Given the description of an element on the screen output the (x, y) to click on. 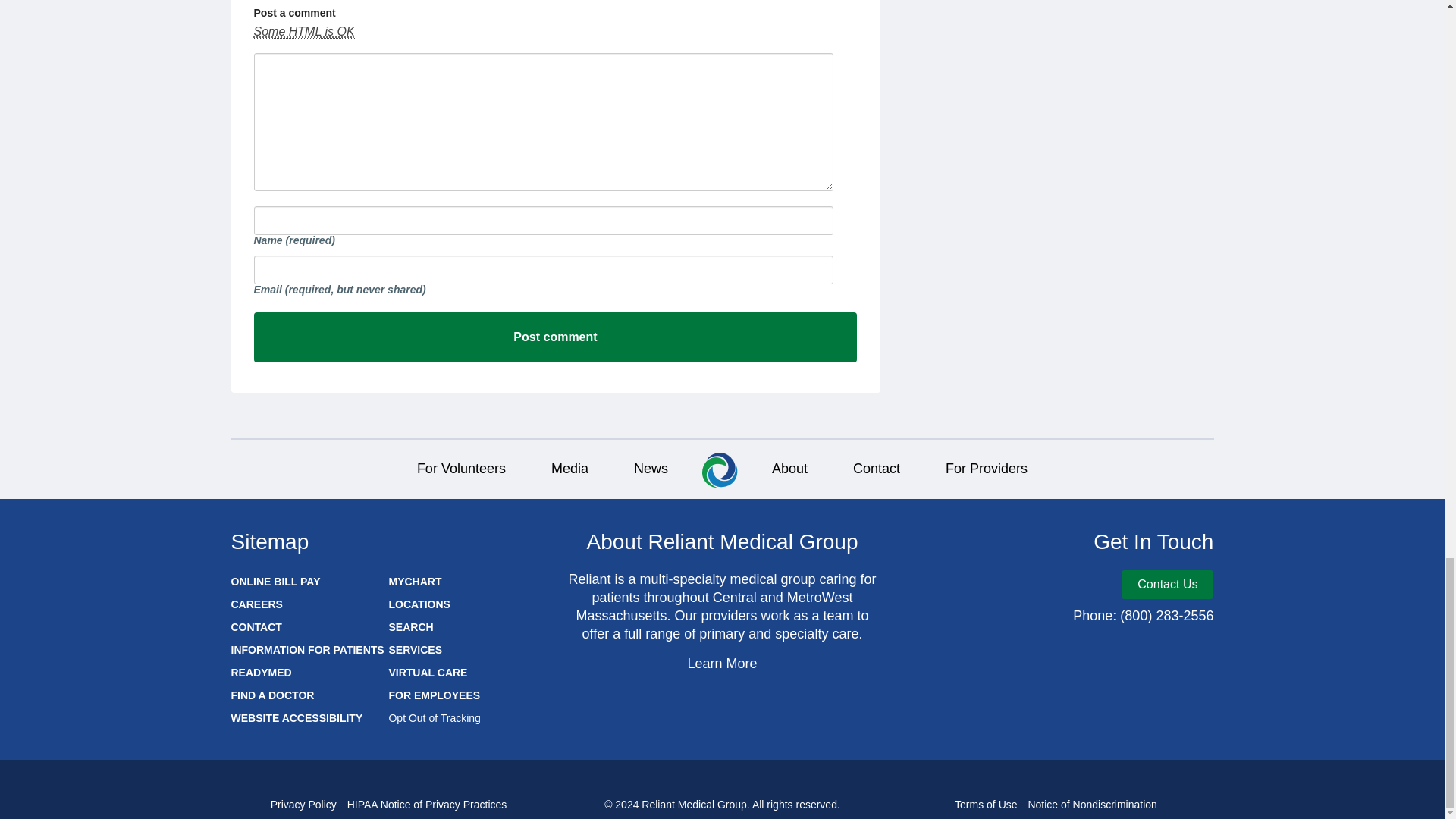
Post comment (555, 337)
